Given the description of an element on the screen output the (x, y) to click on. 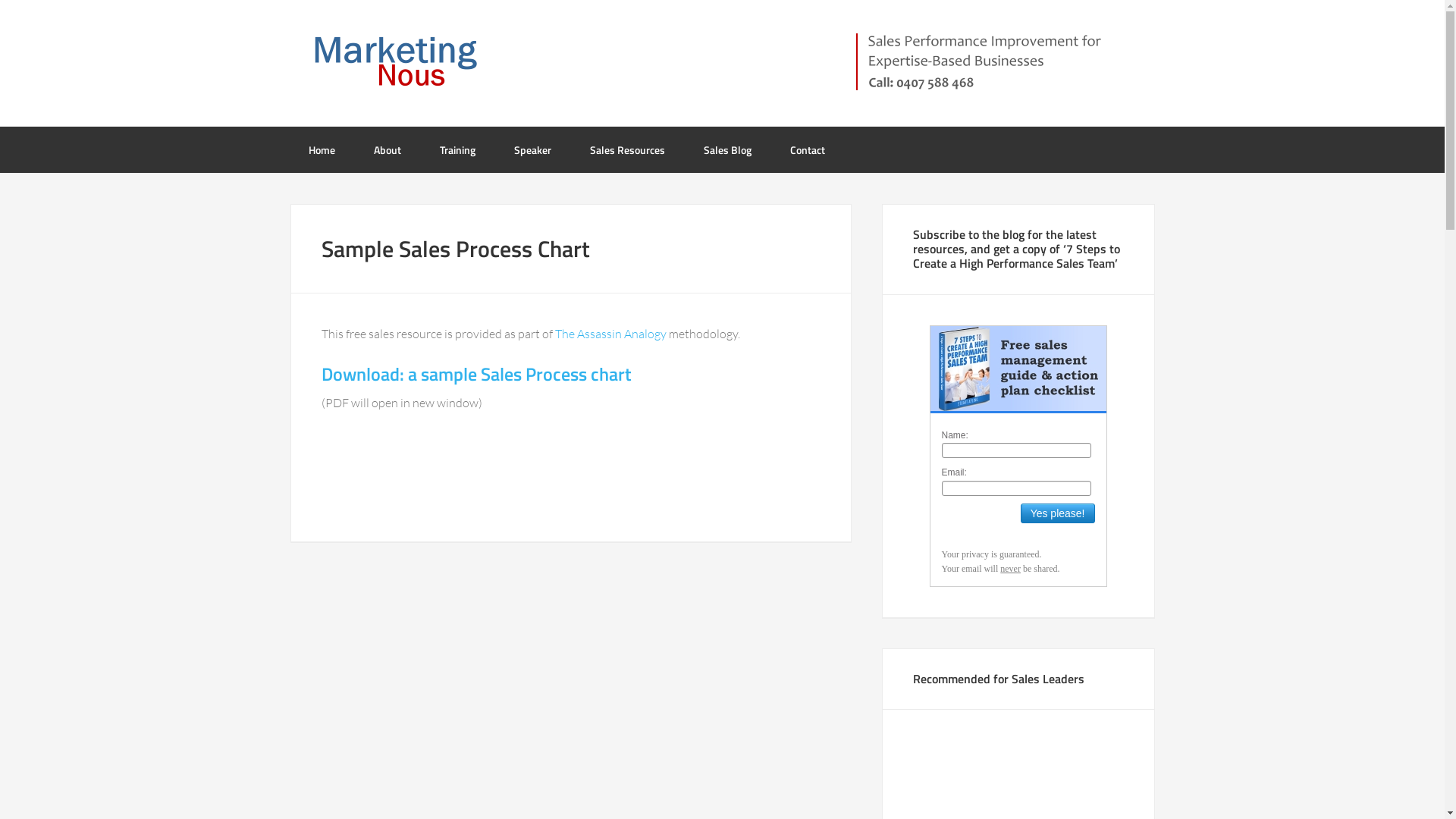
Training Element type: text (457, 149)
Sales Resources Element type: text (627, 149)
Contact Element type: text (807, 149)
Marketing Nous Element type: text (410, 60)
Read complete testimonials ... Element type: text (993, 584)
Download: a sample Sales Process chart Element type: text (476, 373)
About Element type: text (386, 149)
Sales Blog Element type: text (727, 149)
Home Element type: text (320, 149)
Yes please! Element type: text (1057, 513)
The Assassin Analogy Element type: text (610, 333)
Speaker Element type: text (532, 149)
